Given the description of an element on the screen output the (x, y) to click on. 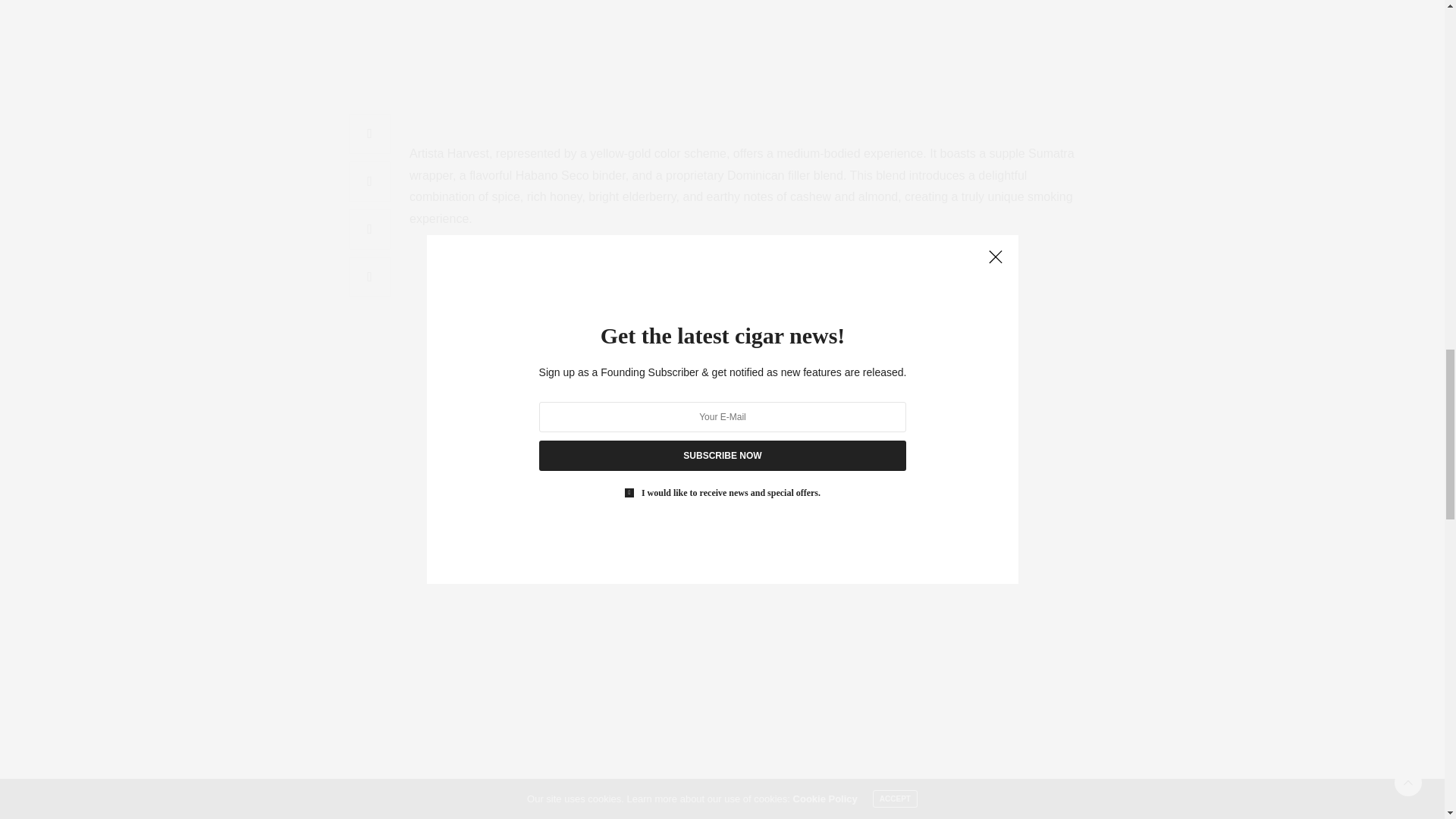
midnight (921, 63)
